Given the description of an element on the screen output the (x, y) to click on. 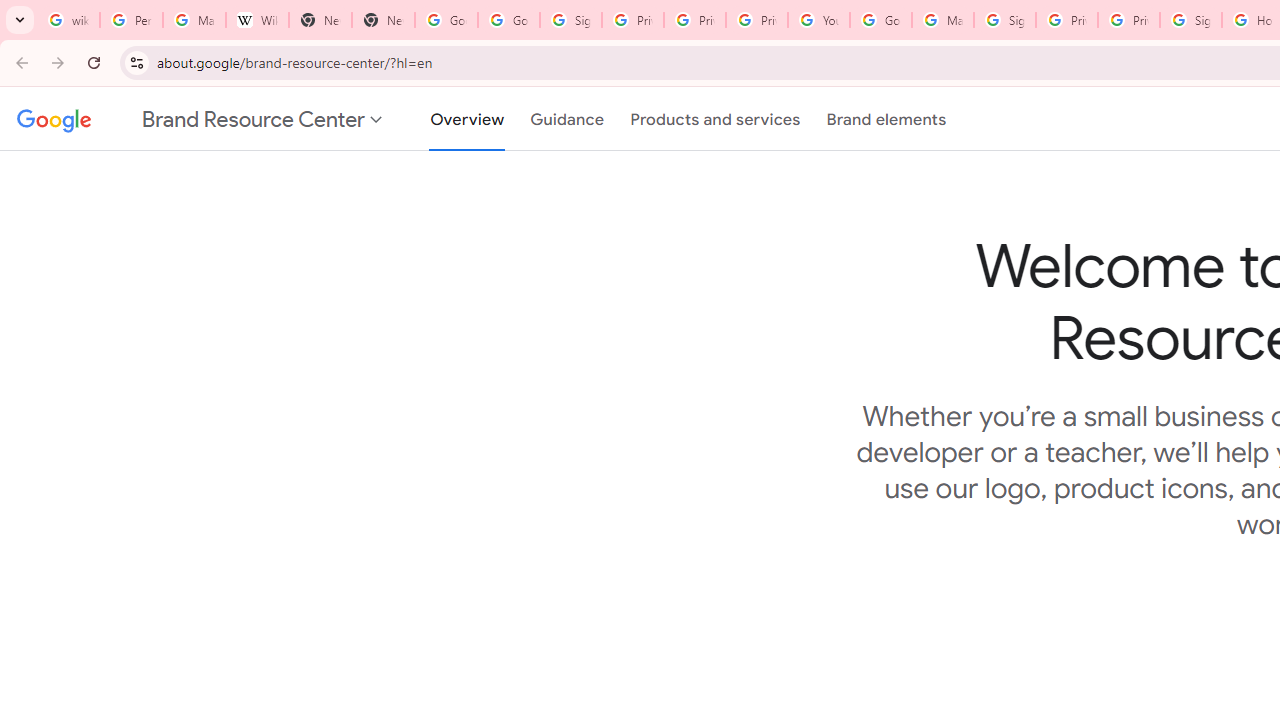
Guidance (567, 119)
